Given the description of an element on the screen output the (x, y) to click on. 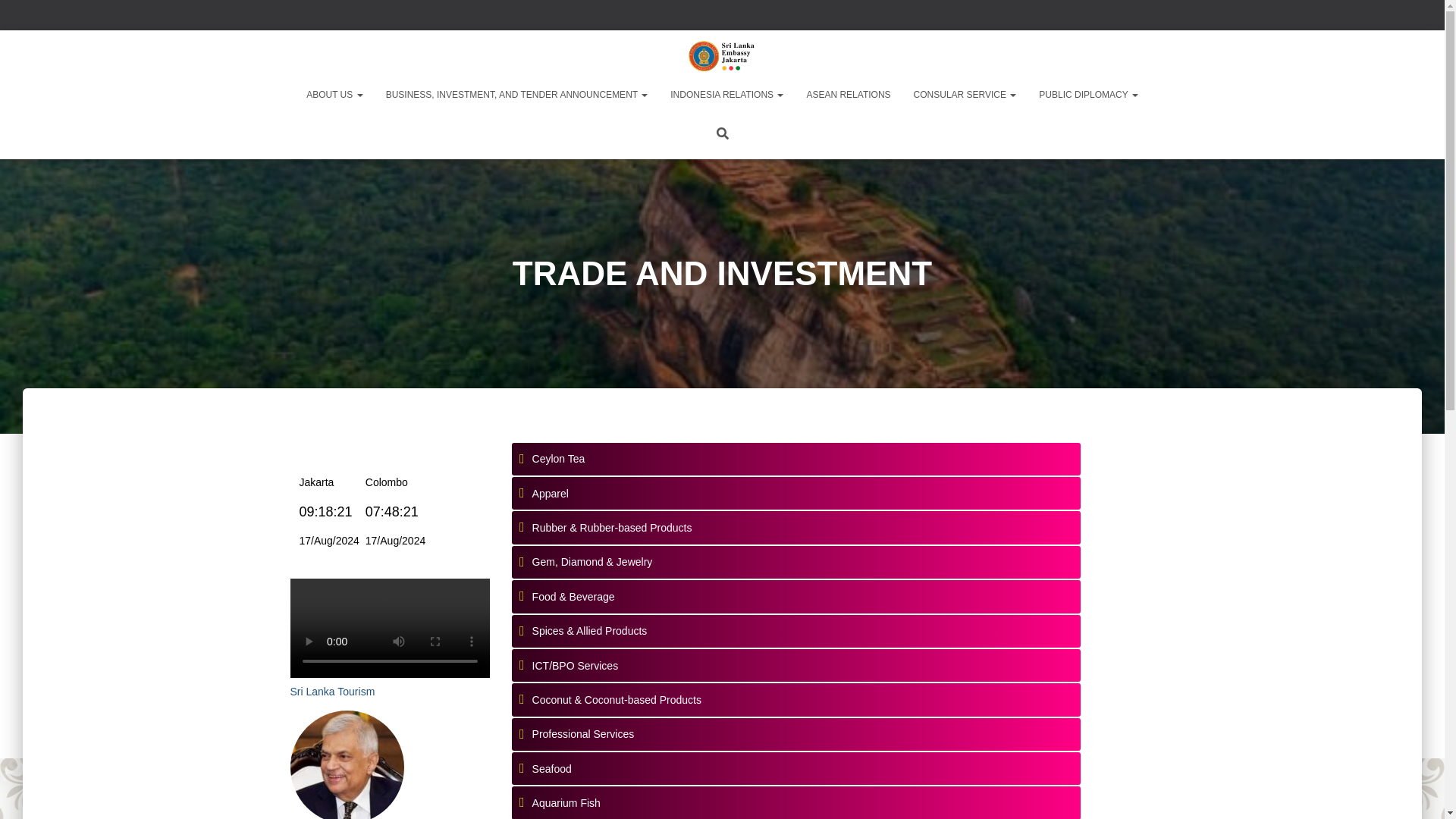
BUSINESS, INVESTMENT, AND TENDER ANNOUNCEMENT (516, 94)
BUSINESS, INVESTMENT, AND TENDER ANNOUNCEMENT (516, 94)
PUBLIC DIPLOMACY (1087, 94)
INDONESIA RELATIONS (726, 94)
ASEAN RELATIONS (847, 94)
INDONESIA RELATIONS (726, 94)
ABOUT US (334, 94)
ABOUT US (334, 94)
CONSULAR SERVICE (964, 94)
Sri Lanka Embassy (722, 56)
